Given the description of an element on the screen output the (x, y) to click on. 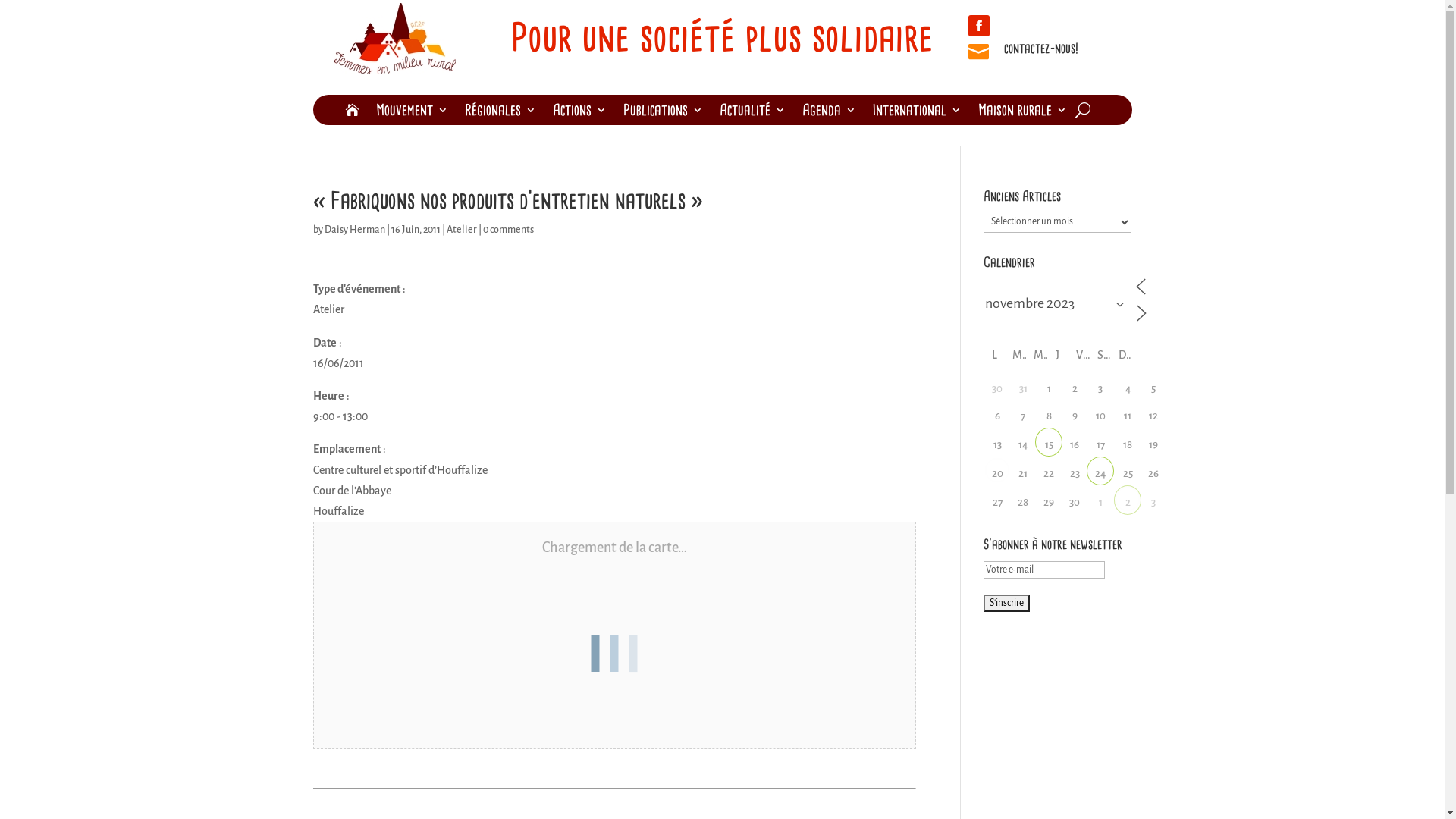
International Element type: text (916, 112)
15 Element type: text (1048, 441)
S'inscrire Element type: text (1006, 602)
2 Element type: text (1127, 498)
NOUVEAU LOGO petit Element type: hover (394, 38)
Maison rurale Element type: text (1022, 112)
Publications Element type: text (662, 112)
20 Element type: text (997, 470)
Follow on Facebook Element type: hover (977, 25)
contactez-nous! Element type: text (1041, 48)
0 comments Element type: text (507, 229)
Mouvement Element type: text (412, 112)
Votre e-mail Element type: hover (1043, 569)
Daisy Herman Element type: text (354, 229)
24 Element type: text (1100, 470)
Agenda Element type: text (829, 112)
Actions Element type: text (579, 112)
Atelier Element type: text (460, 229)
